Given the description of an element on the screen output the (x, y) to click on. 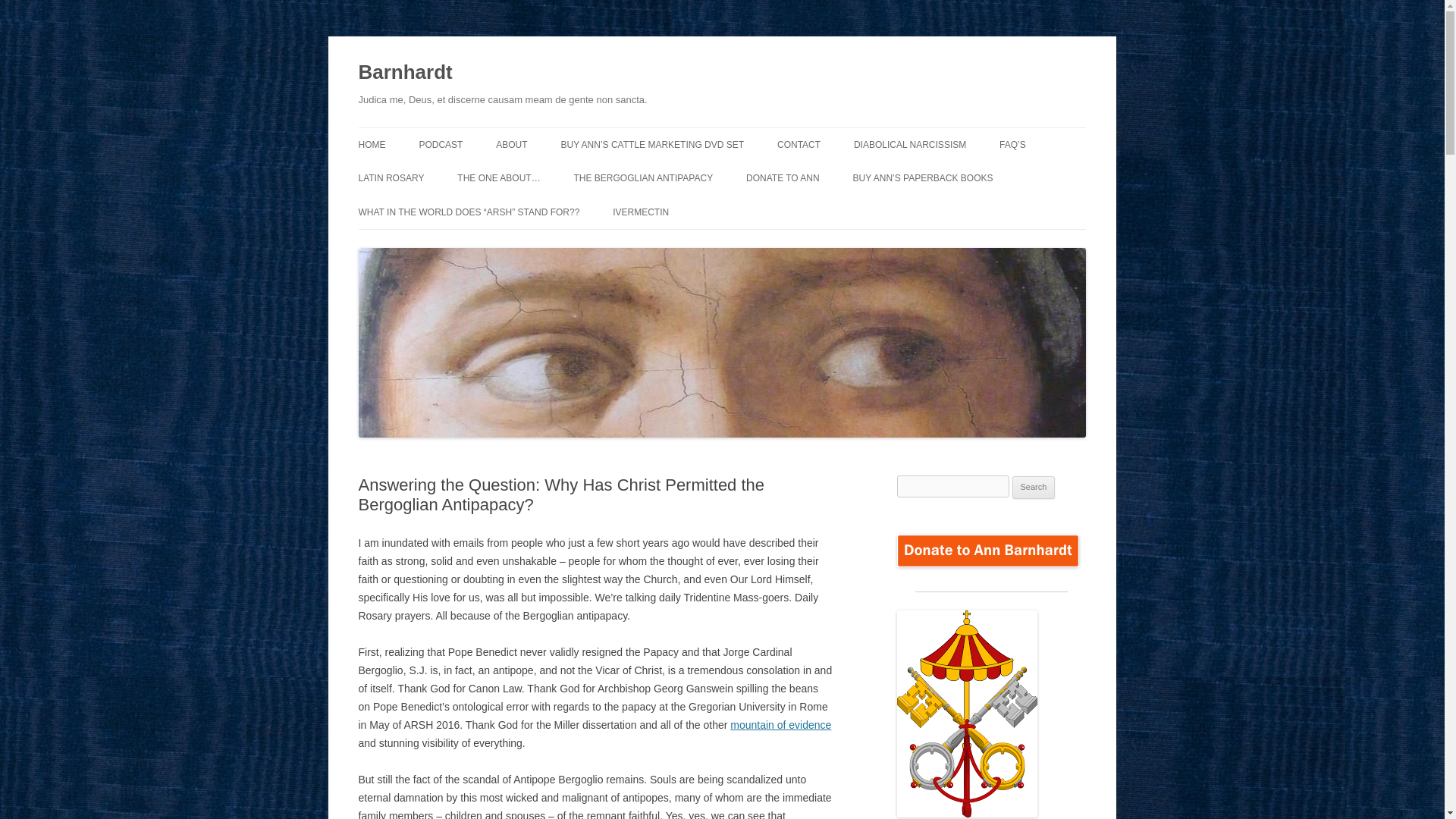
CONTACT (799, 144)
PODCAST (441, 144)
Search (1033, 486)
THE BERGOGLIAN ANTIPAPACY (643, 177)
IVERMECTIN (640, 212)
ABOUT (511, 144)
Barnhardt (404, 72)
mountain of evidence (780, 725)
Search (1033, 486)
